Given the description of an element on the screen output the (x, y) to click on. 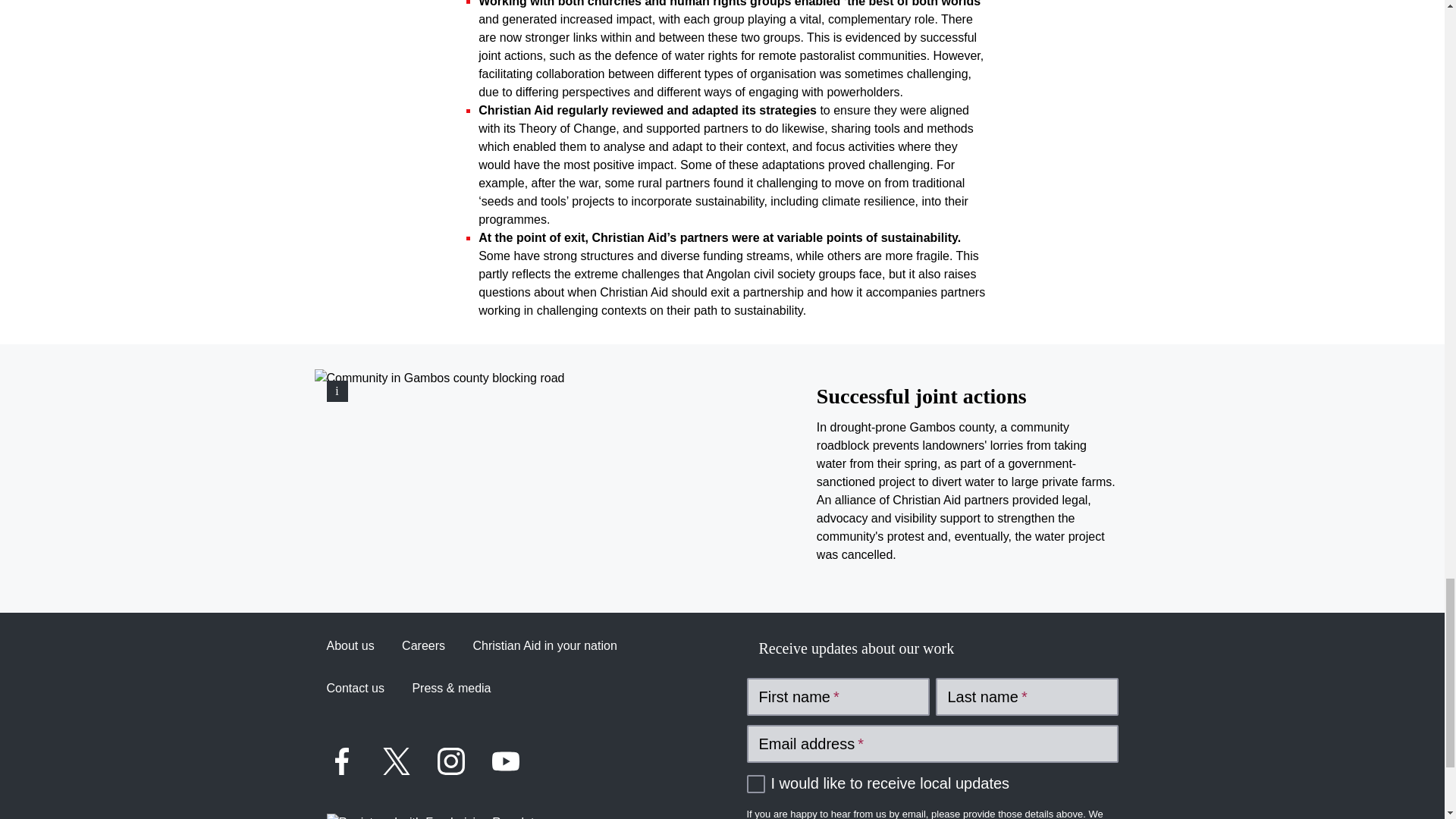
Contact us (355, 688)
Christian Aid in your nation (544, 645)
Twitter logo (395, 761)
About us (349, 645)
Instagram logo (450, 761)
Instagram logo (450, 761)
Facebook logo (341, 761)
Facebook logo (341, 761)
Twitter logo (395, 761)
YouTube logo (504, 761)
Careers (423, 645)
YouTube logo (504, 761)
